Given the description of an element on the screen output the (x, y) to click on. 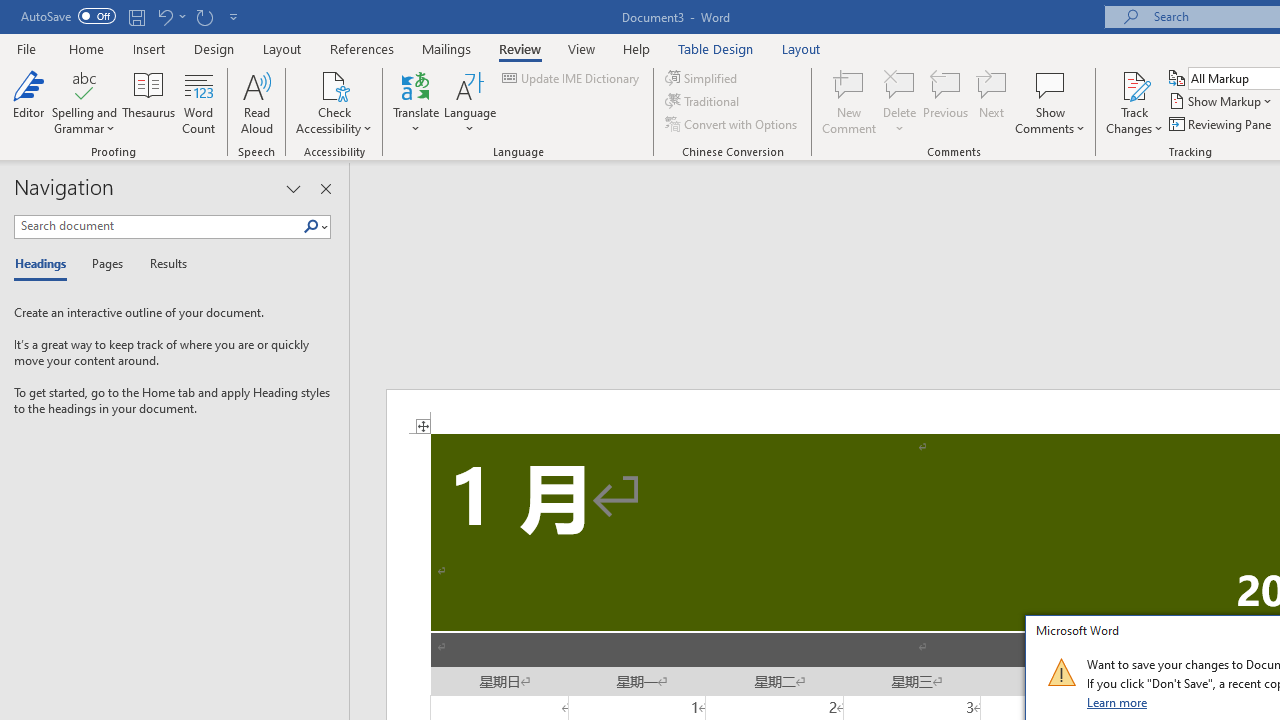
Class: NetUIImage (1061, 671)
Show Comments (1050, 102)
Convert with Options... (732, 124)
Previous (946, 102)
File Tab (26, 48)
Simplified (702, 78)
More Options (1134, 121)
Save (136, 15)
Headings (45, 264)
Results (161, 264)
Layout (801, 48)
Help (637, 48)
